Given the description of an element on the screen output the (x, y) to click on. 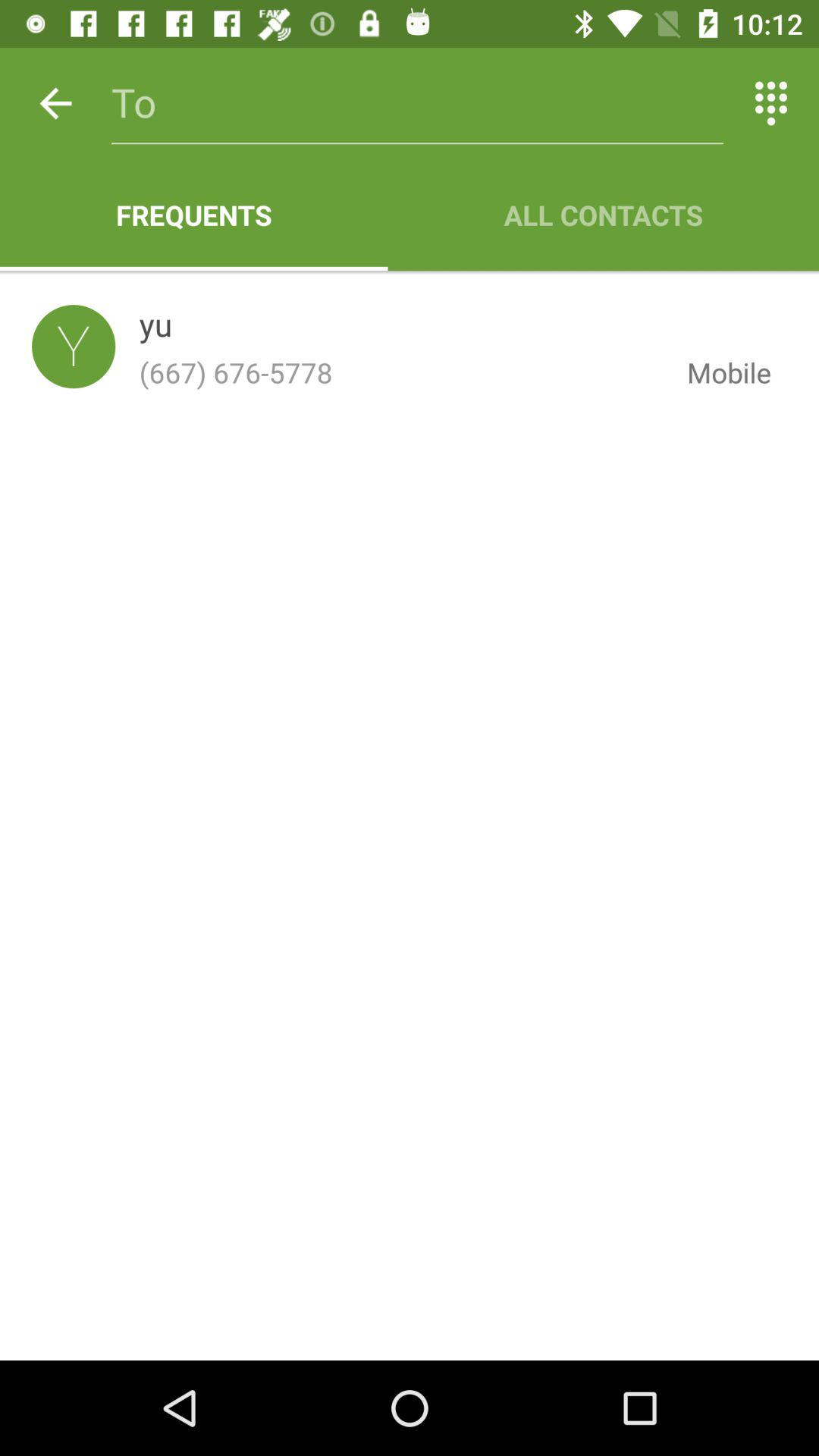
press icon next to mobile (401, 372)
